Given the description of an element on the screen output the (x, y) to click on. 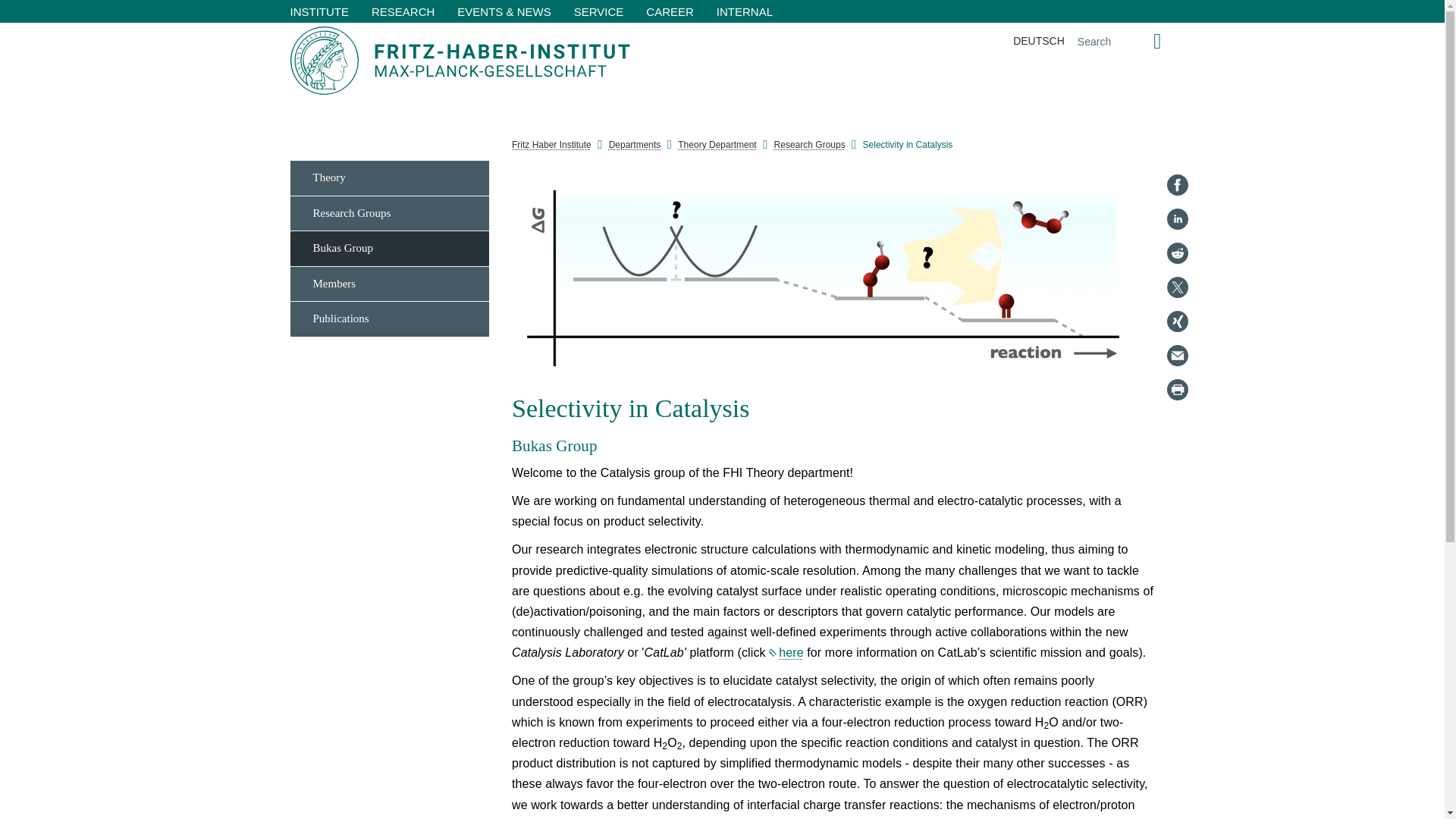
Twitter (1177, 287)
E-Mail (1177, 354)
Facebook (1177, 184)
Print (1177, 389)
DEUTSCH (1038, 41)
Xing (1177, 321)
LinkedIn (1177, 219)
RESEARCH (402, 11)
Reddit (1177, 252)
INSTITUTE (320, 11)
